Given the description of an element on the screen output the (x, y) to click on. 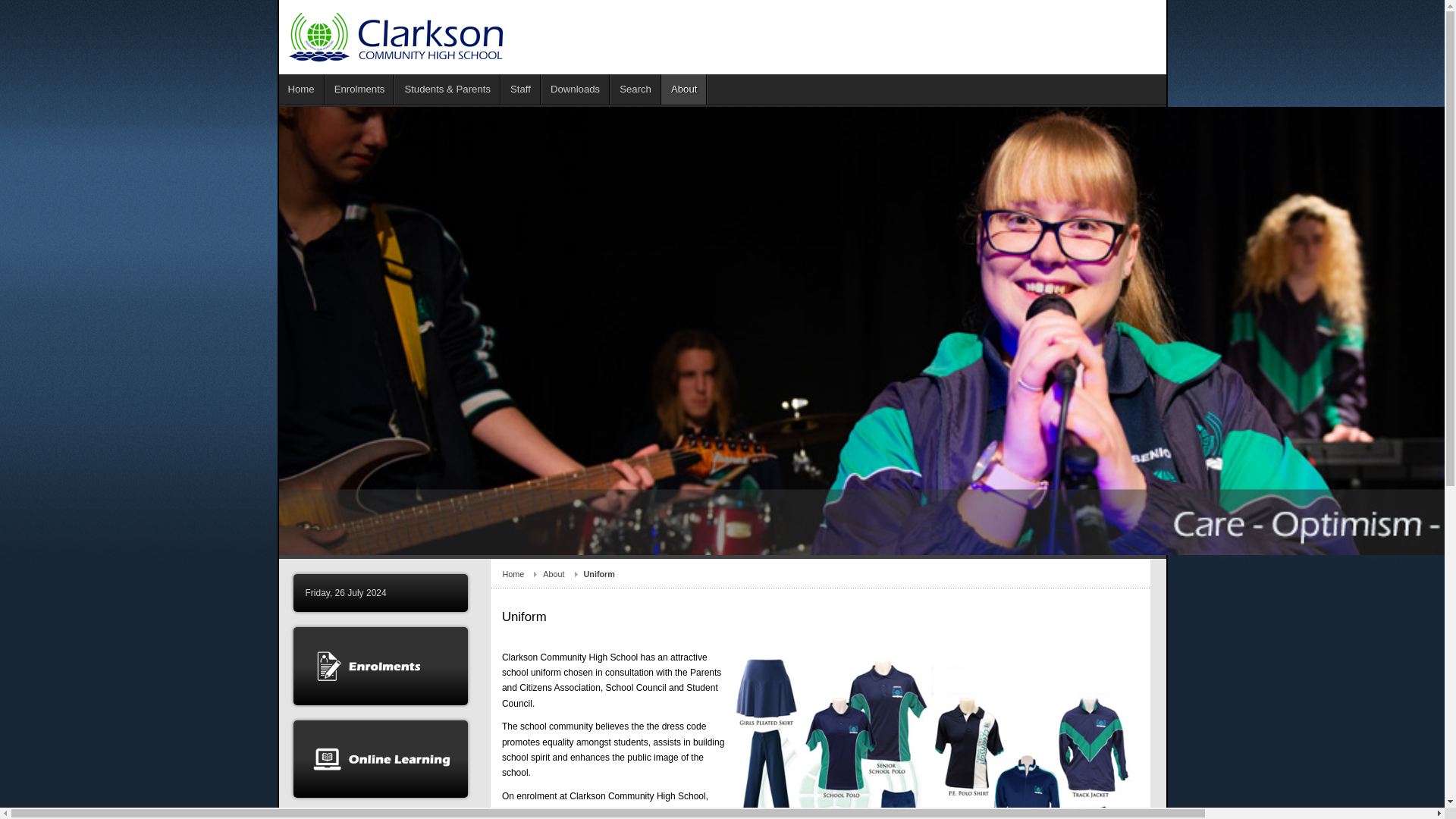
Home (301, 89)
Enrolments (359, 89)
Staff (520, 89)
Search (635, 89)
About (684, 89)
Downloads (575, 89)
